Given the description of an element on the screen output the (x, y) to click on. 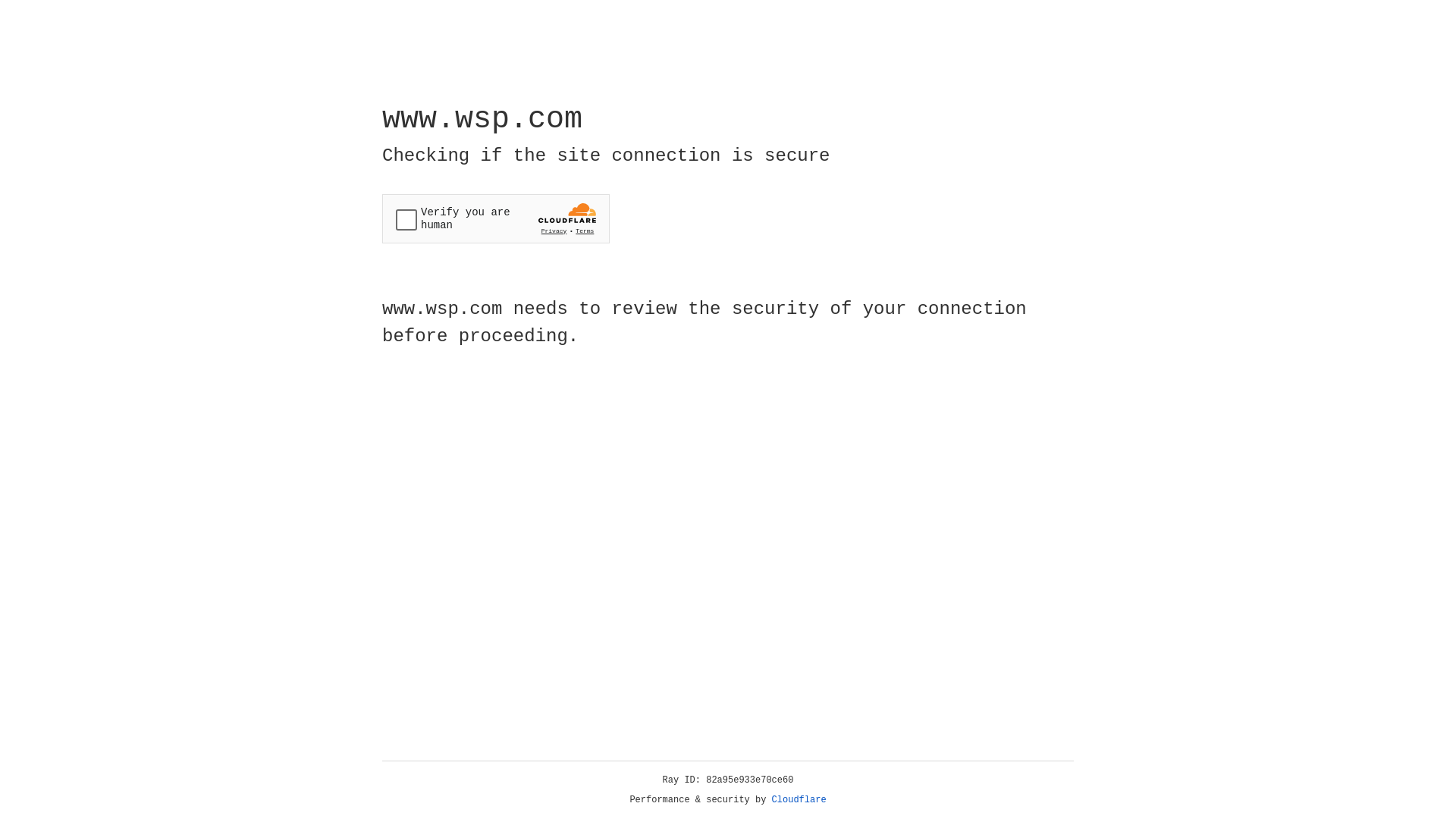
Cloudflare Element type: text (798, 799)
Widget containing a Cloudflare security challenge Element type: hover (495, 218)
